Given the description of an element on the screen output the (x, y) to click on. 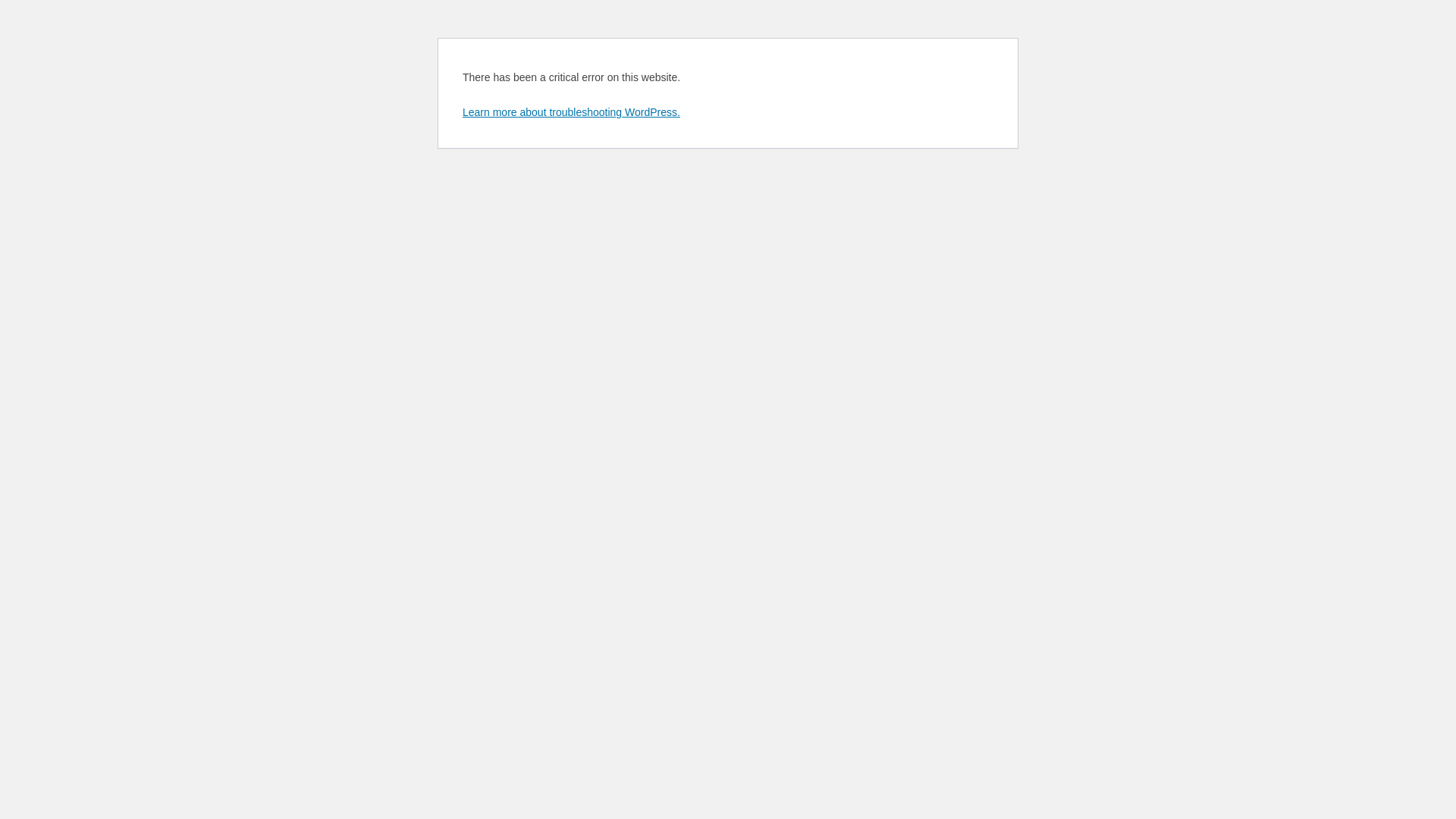
Learn more about troubleshooting WordPress. Element type: text (571, 112)
